Given the description of an element on the screen output the (x, y) to click on. 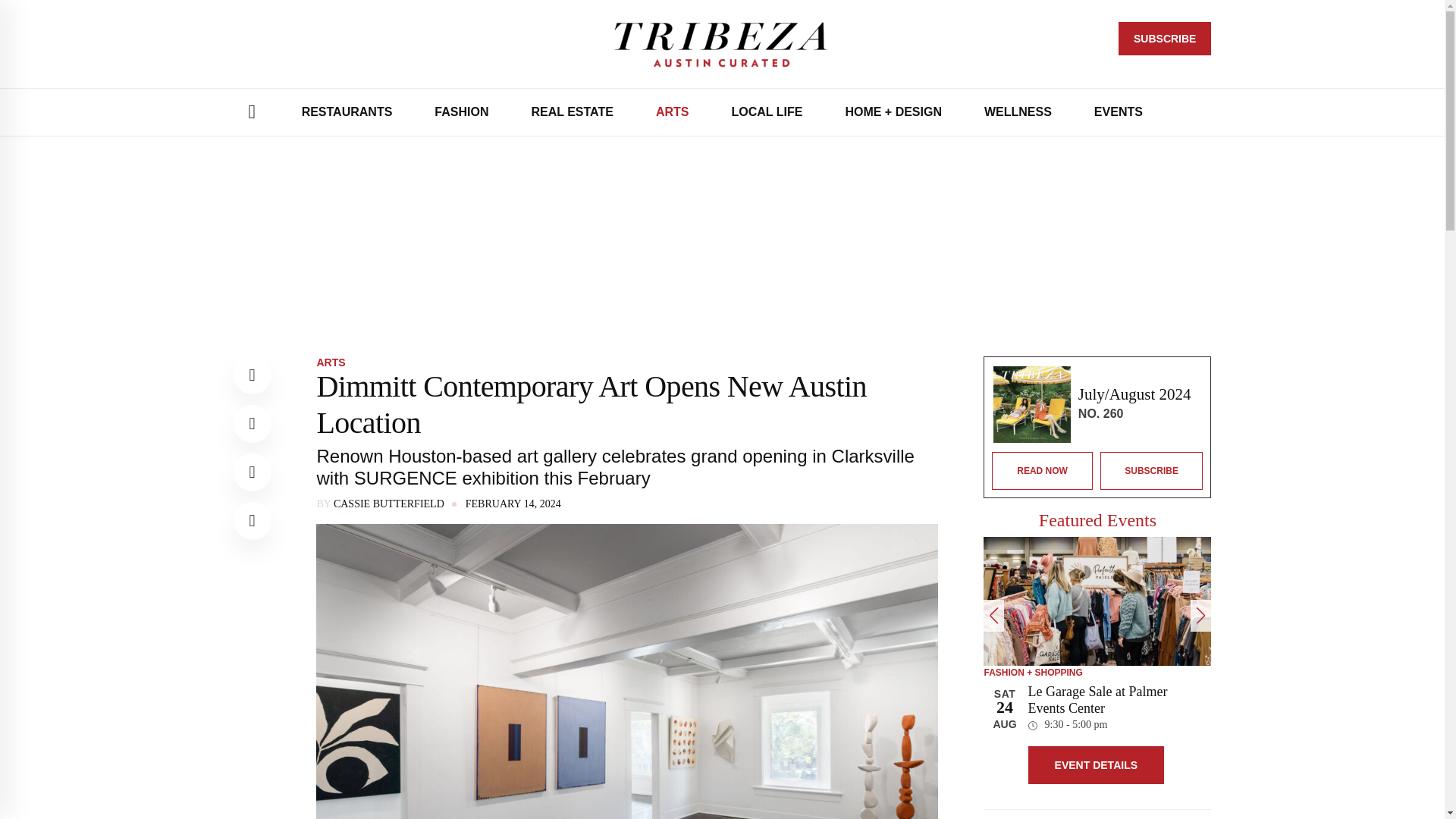
LOCAL LIFE (767, 111)
RESTAURANTS (347, 111)
REAL ESTATE (571, 111)
WELLNESS (1017, 111)
ARTS (672, 111)
FASHION (461, 111)
EVENTS (1118, 111)
SUBSCRIBE (1164, 38)
